Given the description of an element on the screen output the (x, y) to click on. 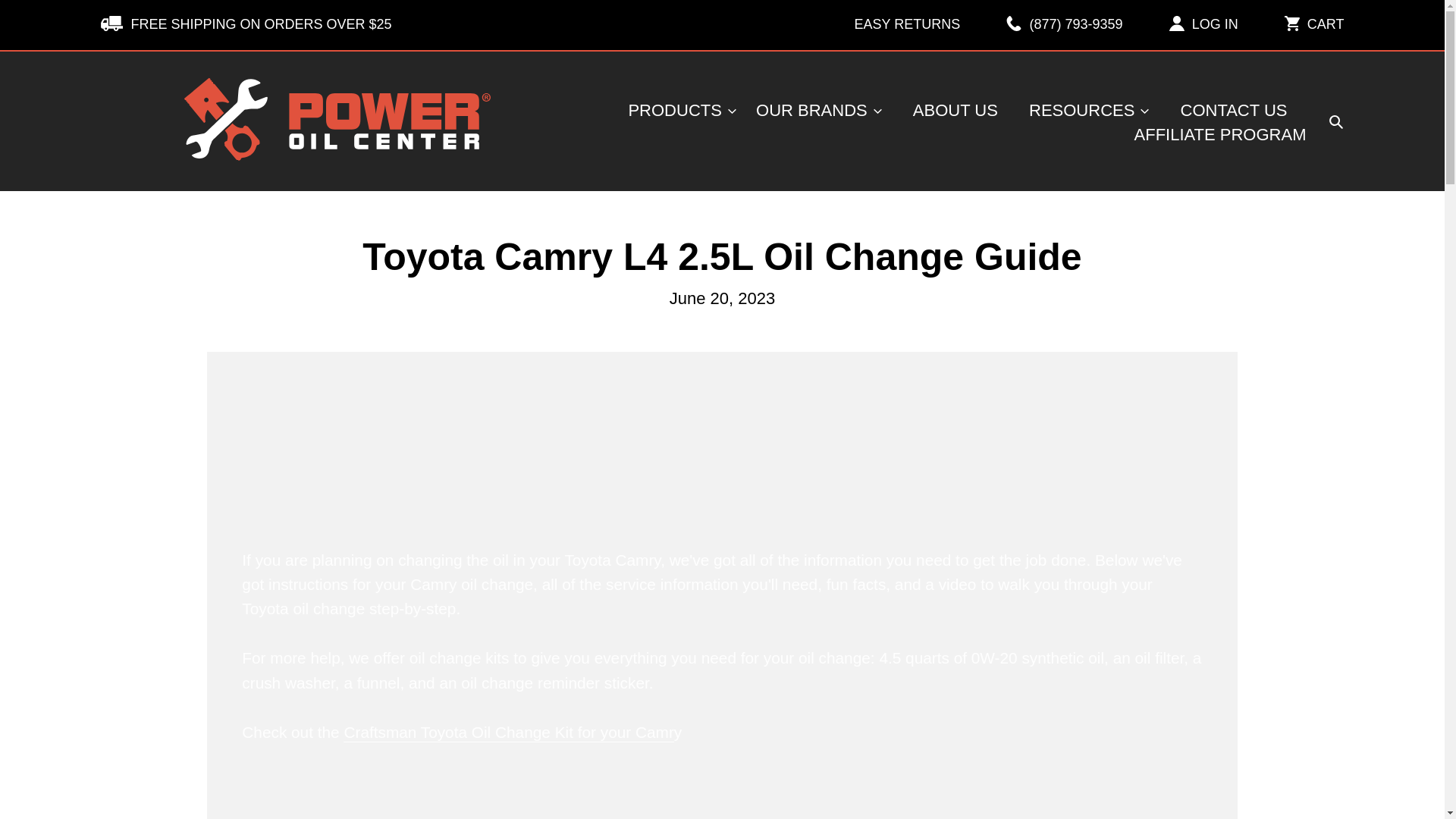
CART (1313, 24)
OUR BRANDS (818, 110)
PRODUCTS (681, 110)
EASY RETURNS (894, 24)
LOG IN (1204, 24)
